Given the description of an element on the screen output the (x, y) to click on. 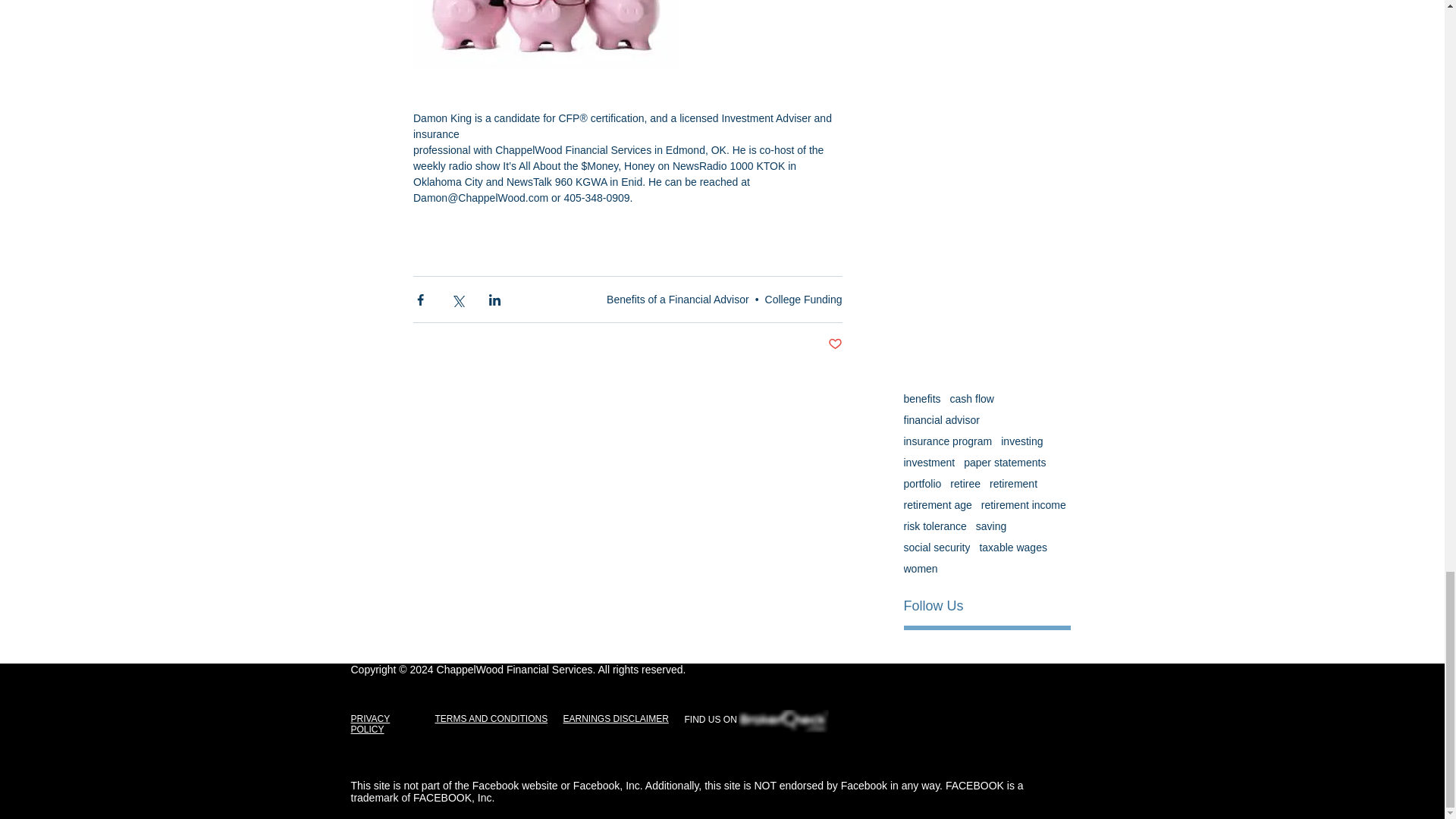
Post not marked as liked (835, 344)
Benefits of a Financial Advisor (678, 299)
College Funding (804, 299)
